Given the description of an element on the screen output the (x, y) to click on. 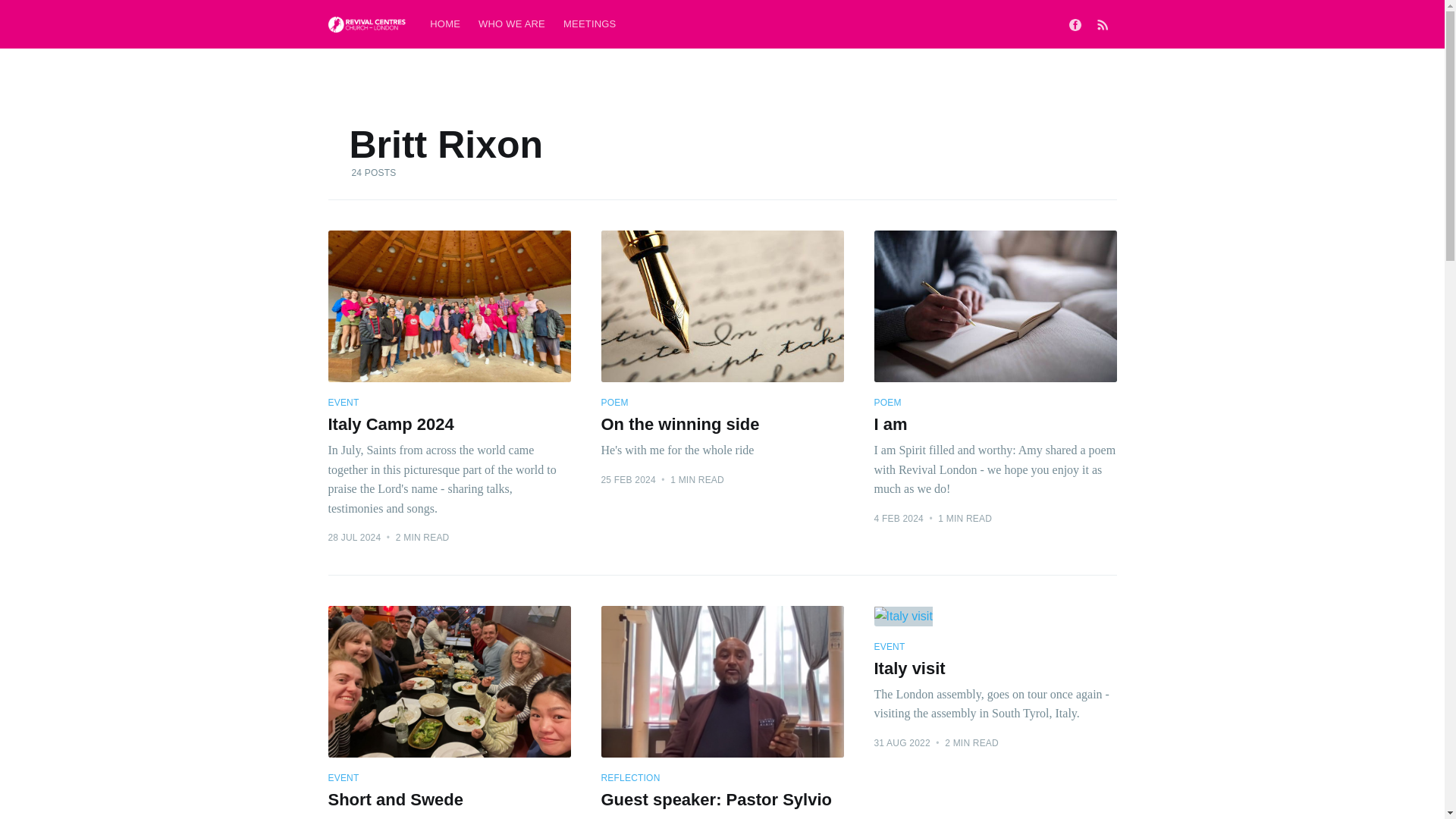
HOME (721, 427)
WHO WE ARE (444, 24)
MEETINGS (511, 24)
